Given the description of an element on the screen output the (x, y) to click on. 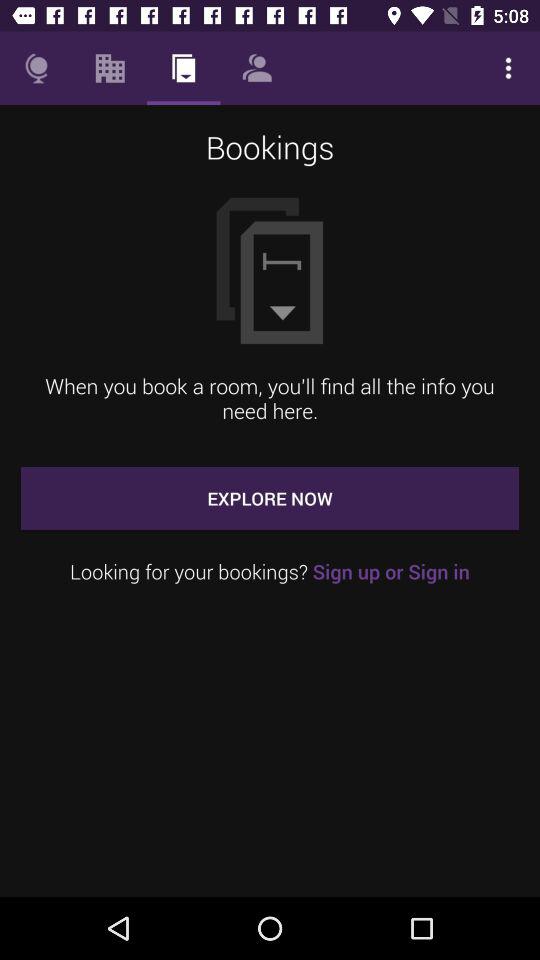
tap explore now (270, 497)
